Given the description of an element on the screen output the (x, y) to click on. 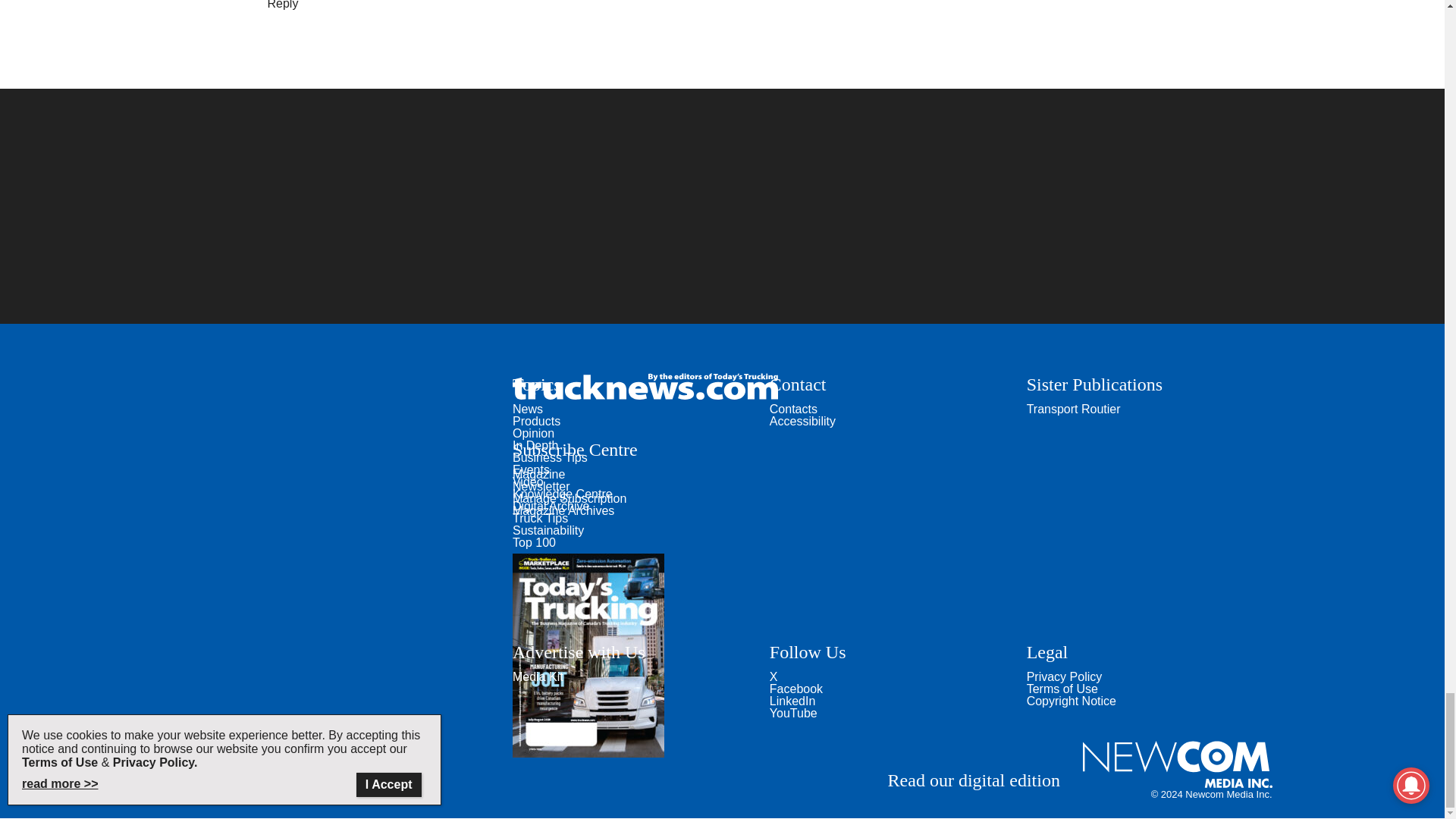
3rd party ad content (721, 206)
